Given the description of an element on the screen output the (x, y) to click on. 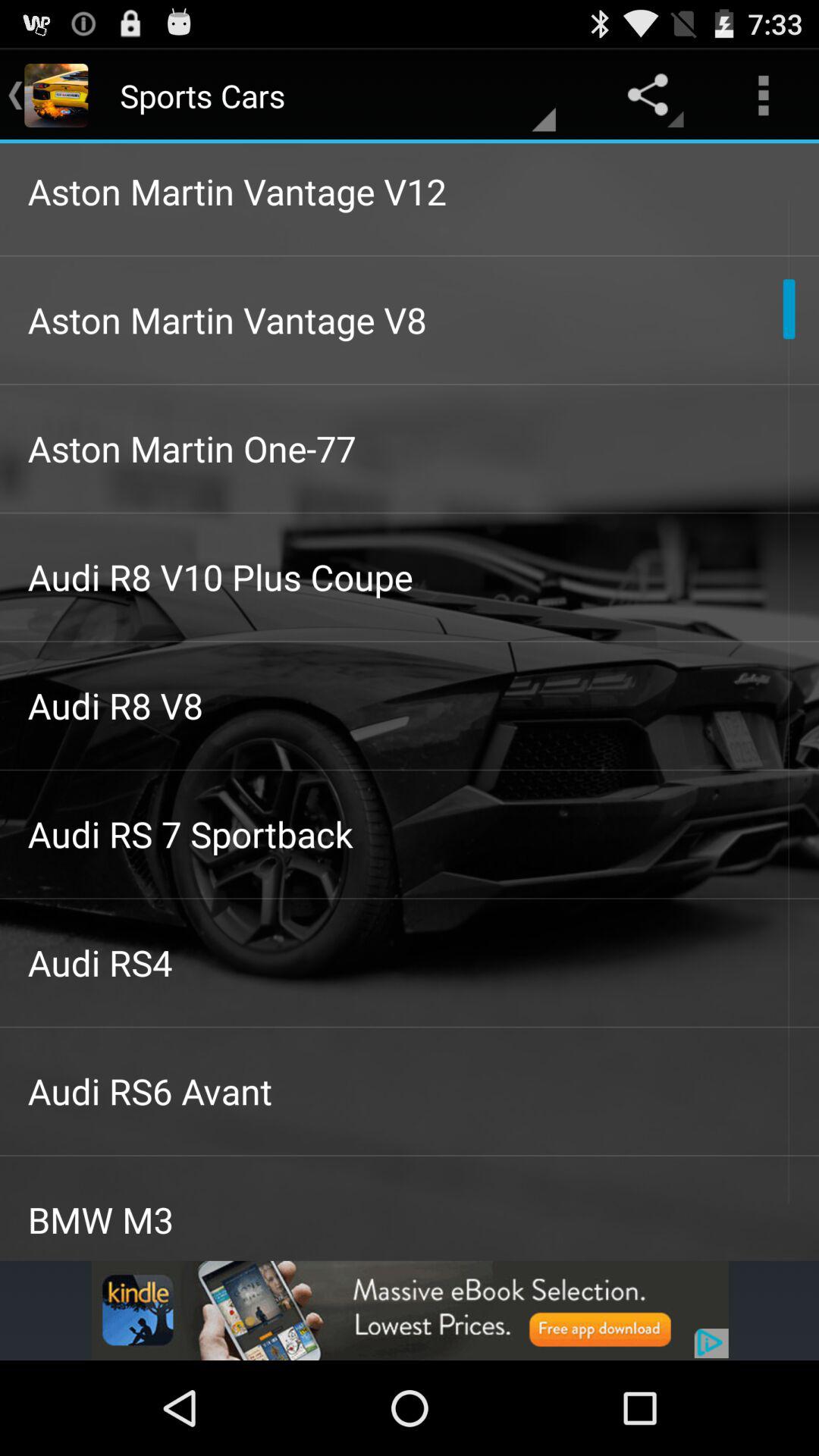
advertisement (409, 1310)
